Given the description of an element on the screen output the (x, y) to click on. 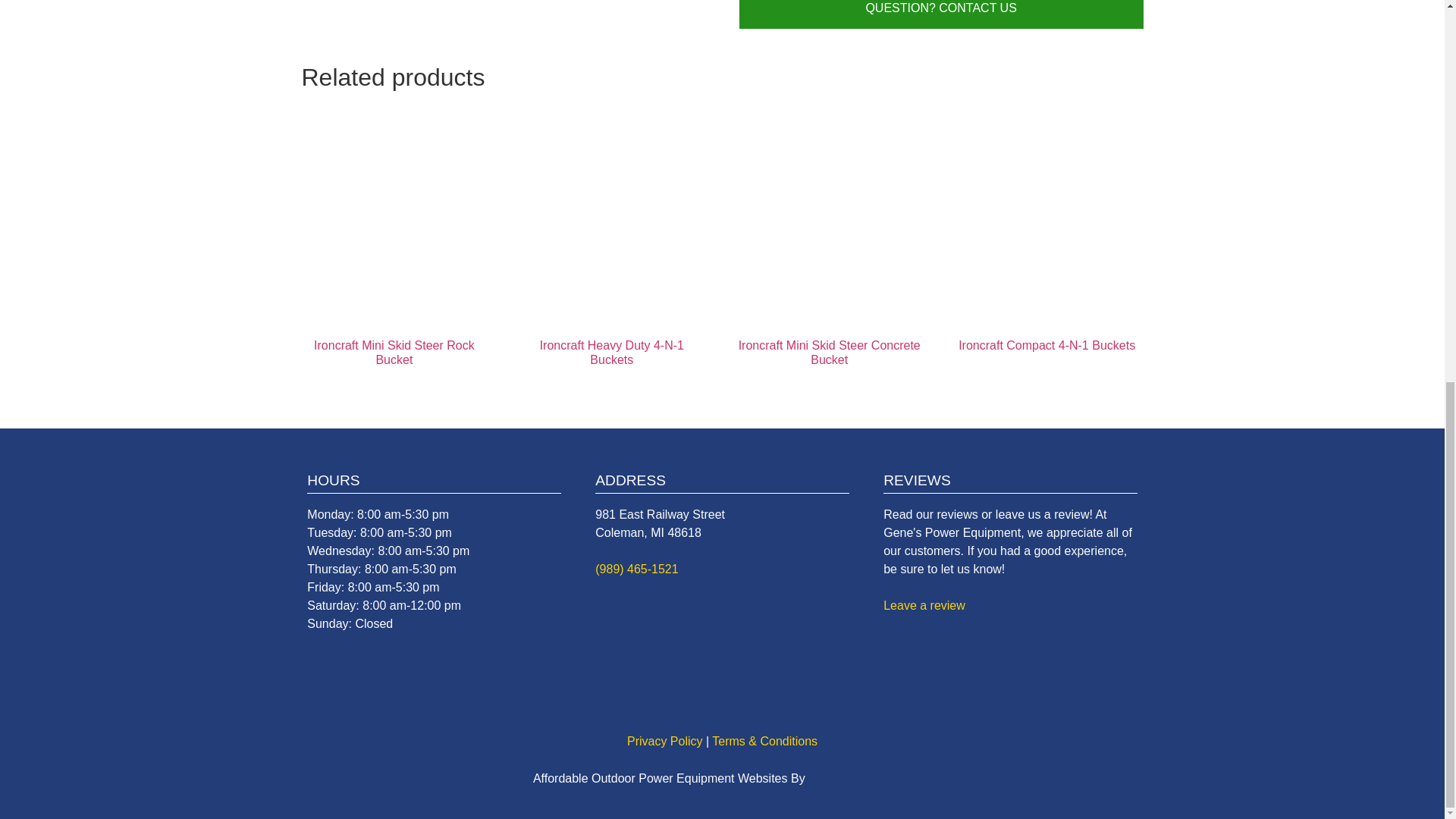
Leave a review (924, 604)
QUESTION? CONTACT US (940, 14)
Privacy Policy (665, 740)
